Given the description of an element on the screen output the (x, y) to click on. 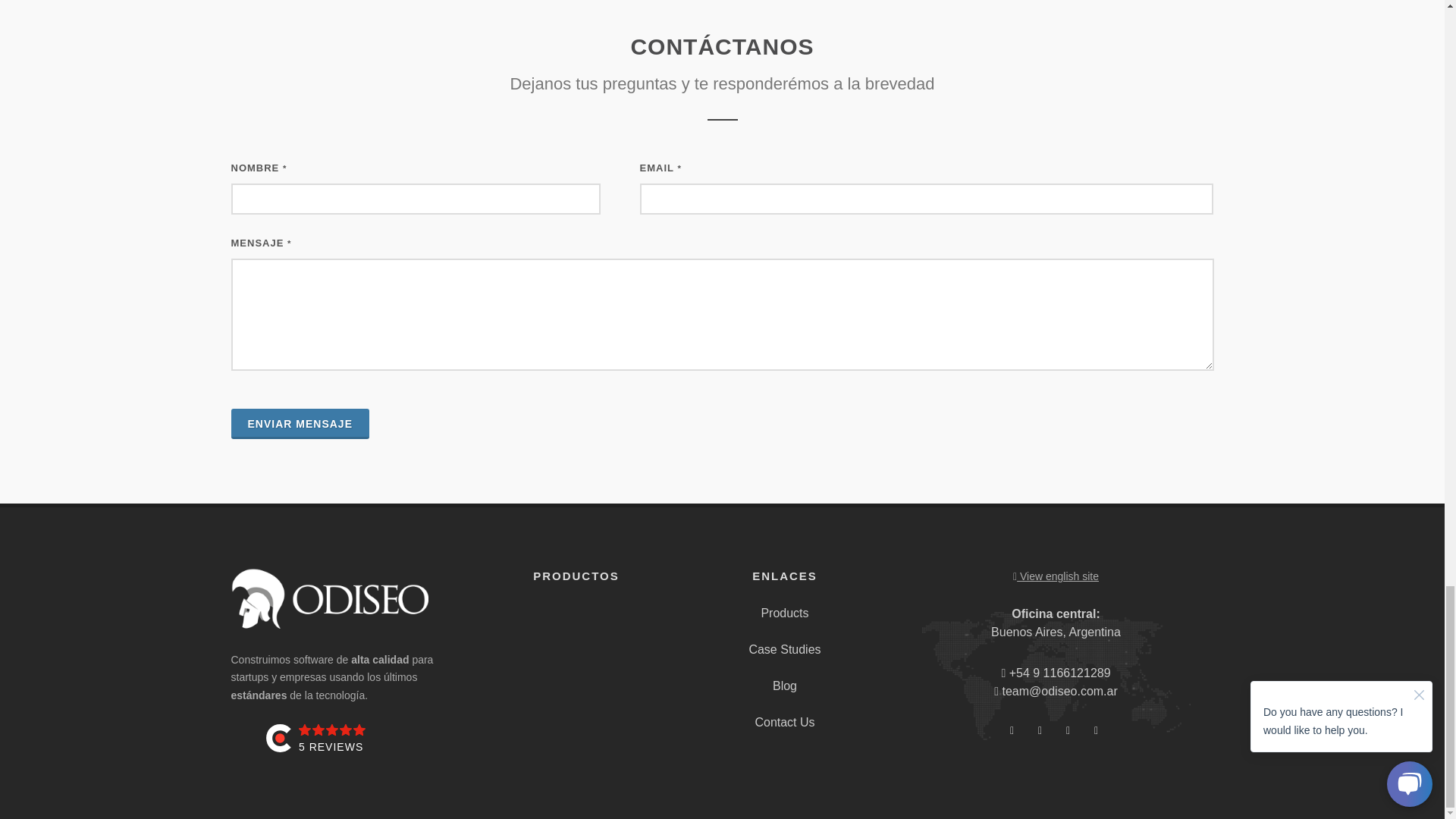
View english site (1056, 576)
Blog (784, 685)
Case Studies (784, 649)
ENVIAR MENSAJE (299, 423)
Contact Us (783, 721)
Products (784, 612)
